Given the description of an element on the screen output the (x, y) to click on. 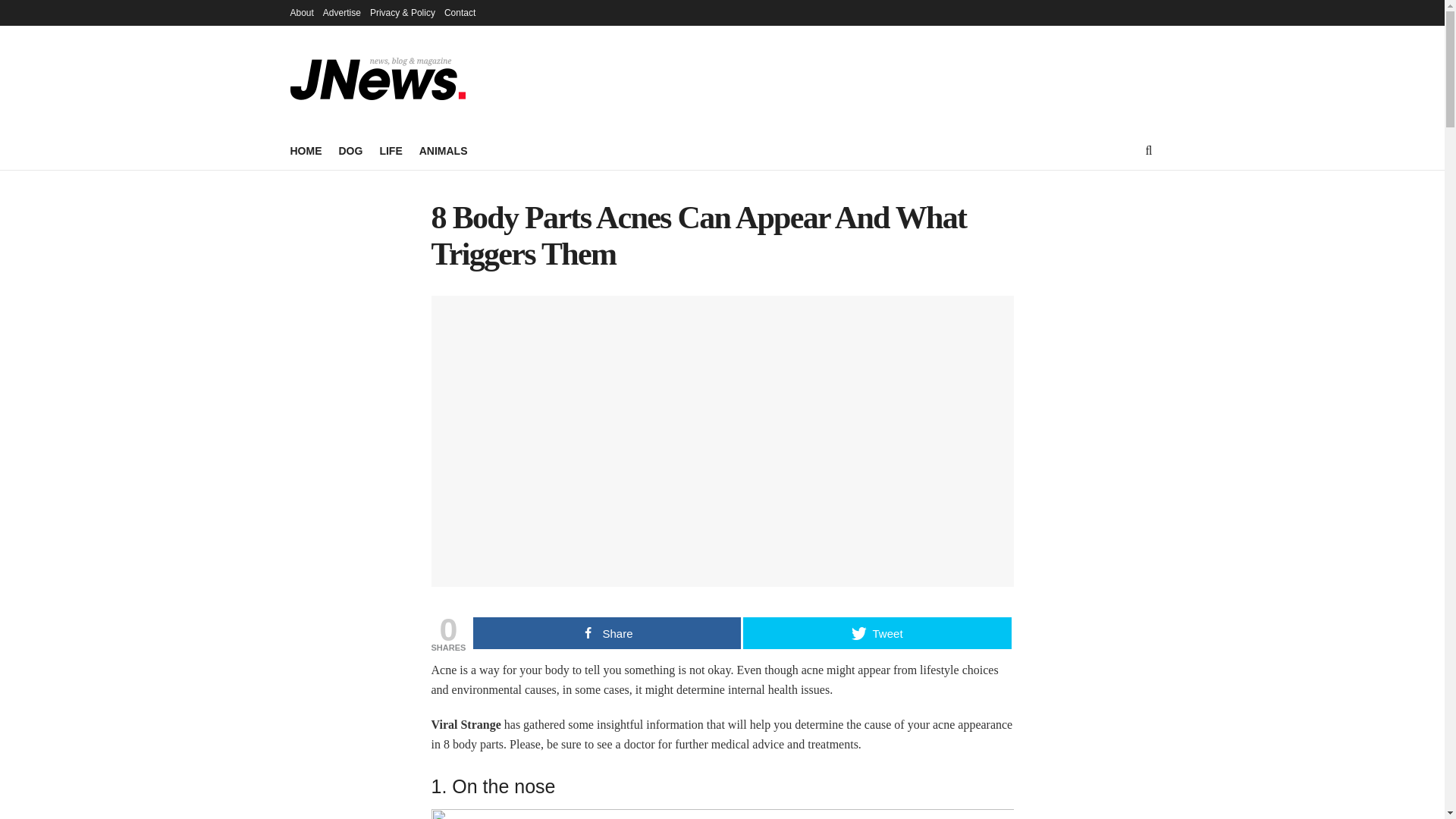
Tweet (876, 633)
HOME (305, 150)
DOG (349, 150)
About (301, 12)
ANIMALS (443, 150)
Advertise (342, 12)
Share (607, 633)
LIFE (389, 150)
Contact (460, 12)
